Given the description of an element on the screen output the (x, y) to click on. 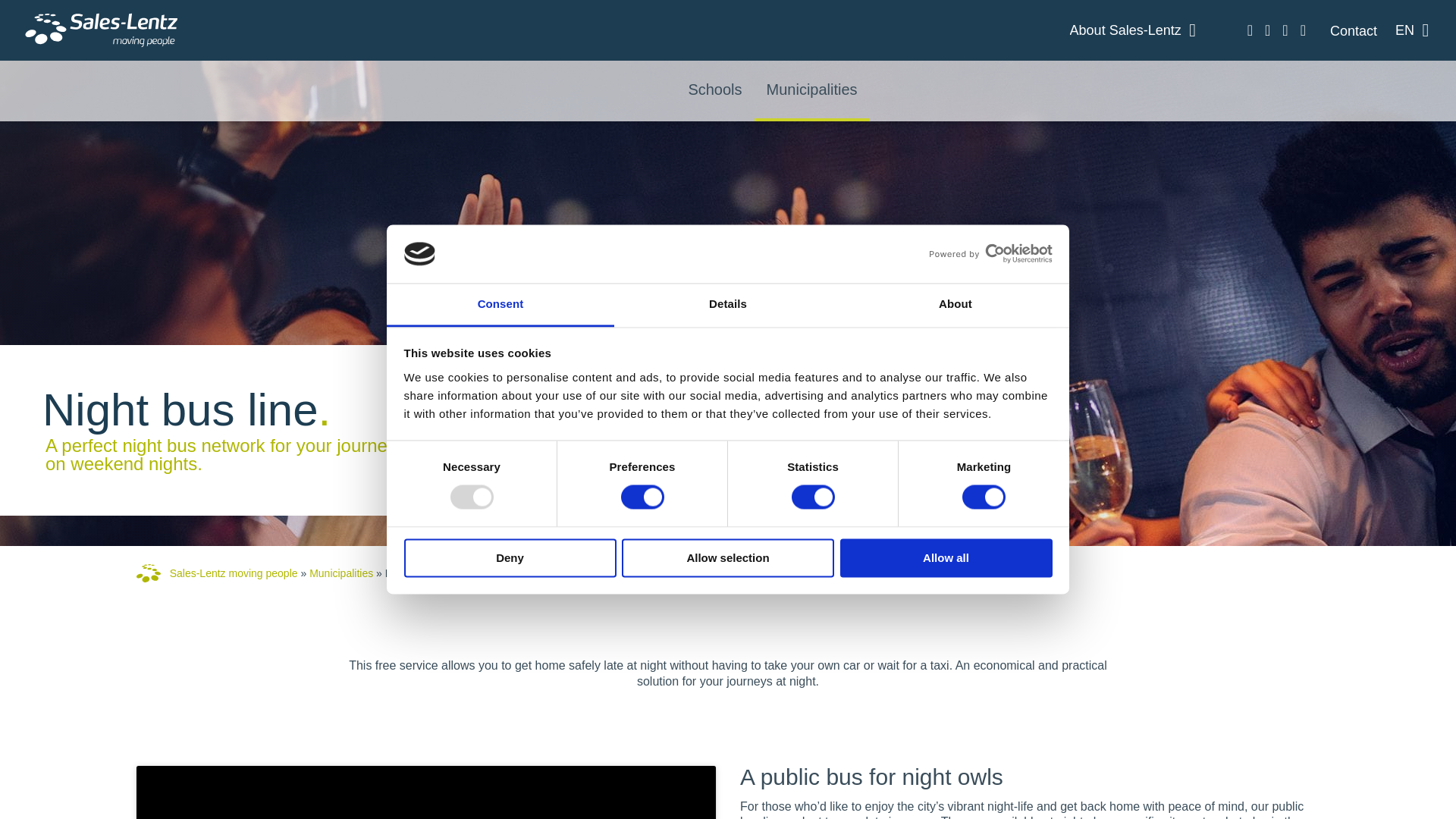
About (954, 304)
Details (727, 304)
Allow all (946, 557)
Allow selection (727, 557)
Consent (500, 304)
Deny (509, 557)
